Given the description of an element on the screen output the (x, y) to click on. 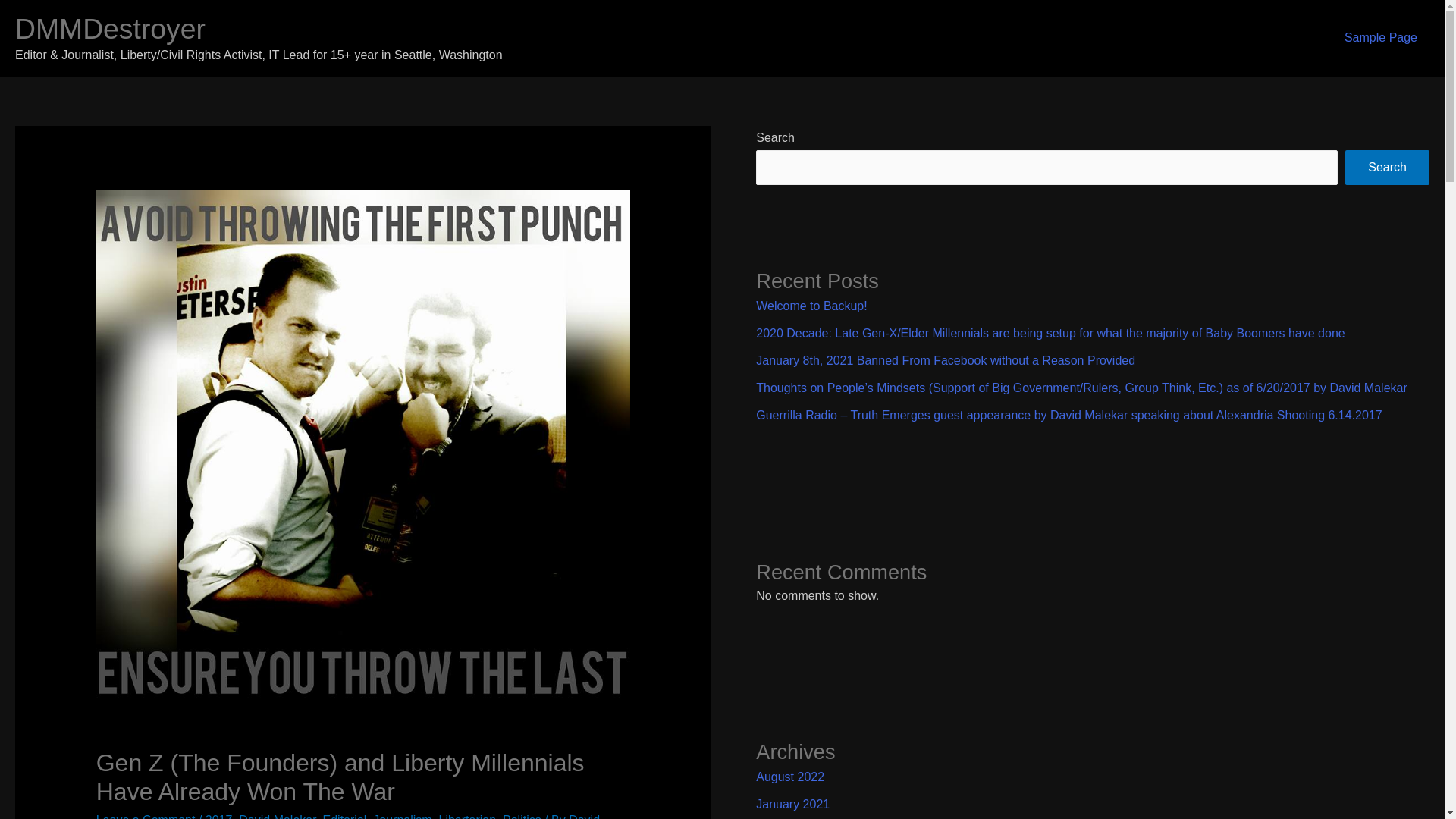
David Malekar (276, 816)
Leave a Comment (145, 816)
Politics (521, 816)
Journalism (401, 816)
Sample Page (1380, 37)
Editorial (344, 816)
2017 (218, 816)
Libertarian (467, 816)
